Given the description of an element on the screen output the (x, y) to click on. 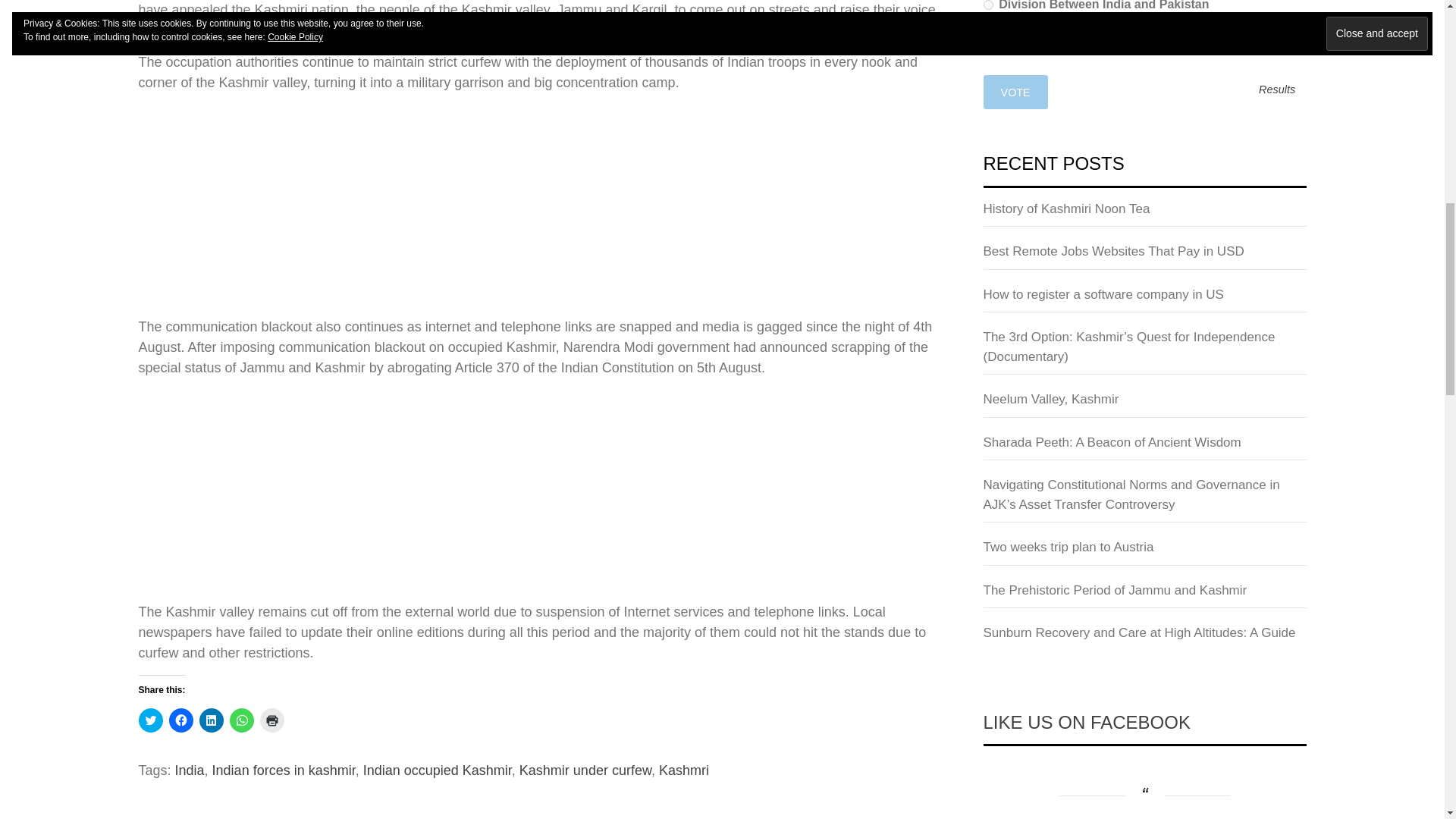
Click to share on Twitter (149, 720)
Click to share on Facebook (180, 720)
Click to share on WhatsApp (240, 720)
Click to print (271, 720)
Click to share on LinkedIn (210, 720)
Vote (1014, 91)
